Given the description of an element on the screen output the (x, y) to click on. 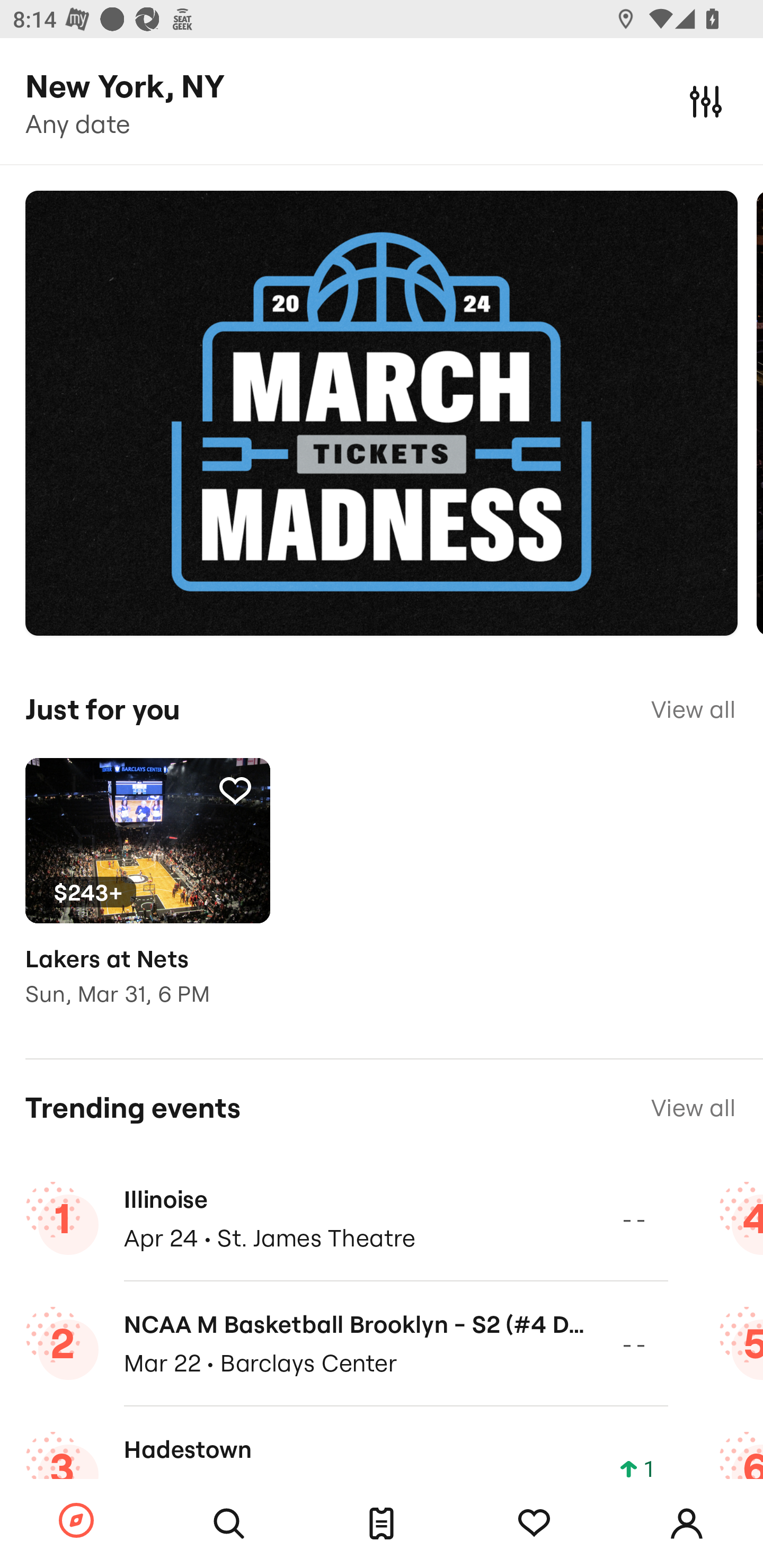
Filters (705, 100)
View all (693, 709)
Tracking $243+ Lakers at Nets Sun, Mar 31, 6 PM (147, 895)
Tracking (234, 790)
View all (693, 1108)
Browse (76, 1521)
Search (228, 1523)
Tickets (381, 1523)
Tracking (533, 1523)
Account (686, 1523)
